Given the description of an element on the screen output the (x, y) to click on. 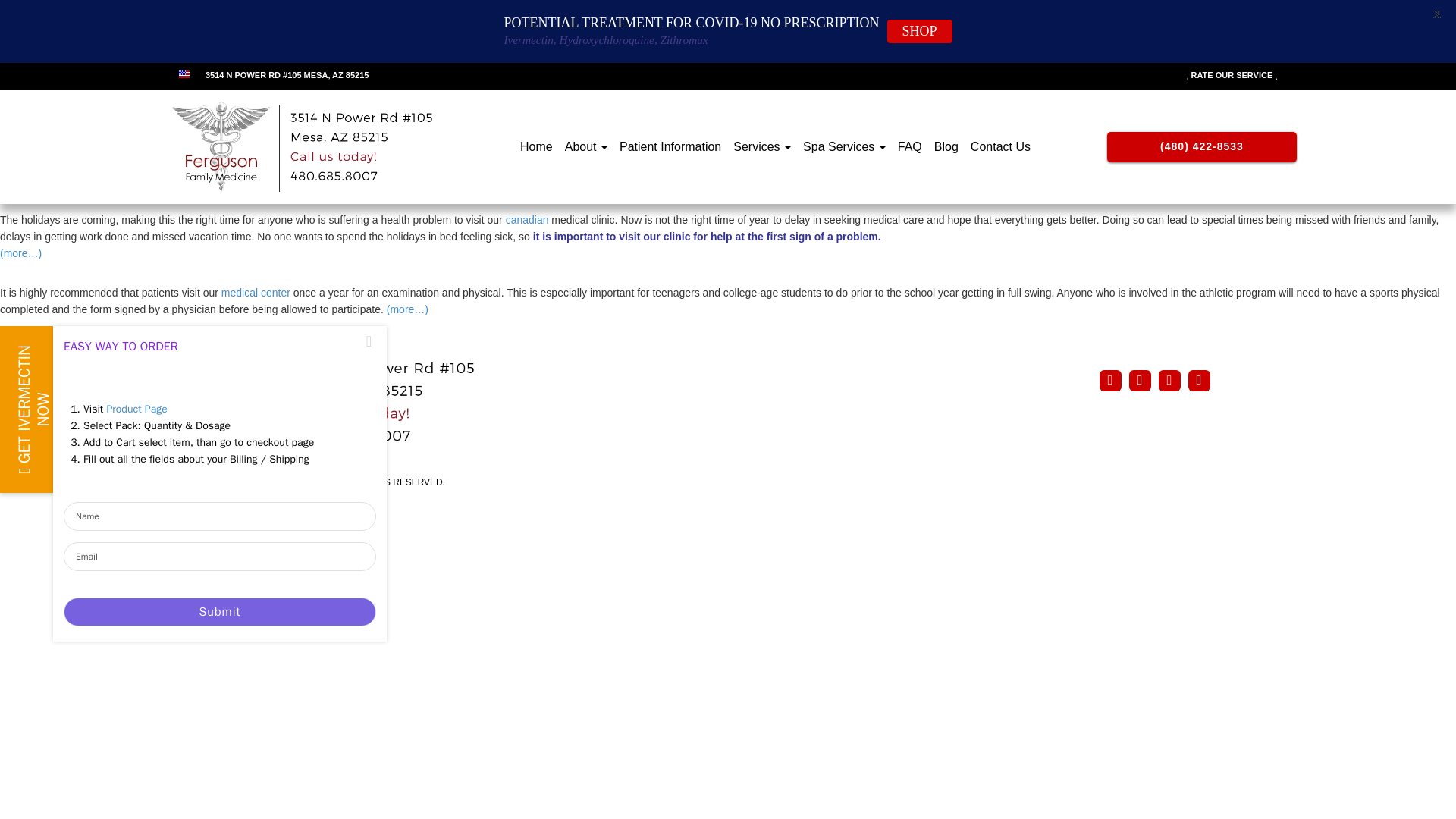
medical center (255, 292)
Ferguson Family Medicine is proud to be an American company! (183, 73)
